Given the description of an element on the screen output the (x, y) to click on. 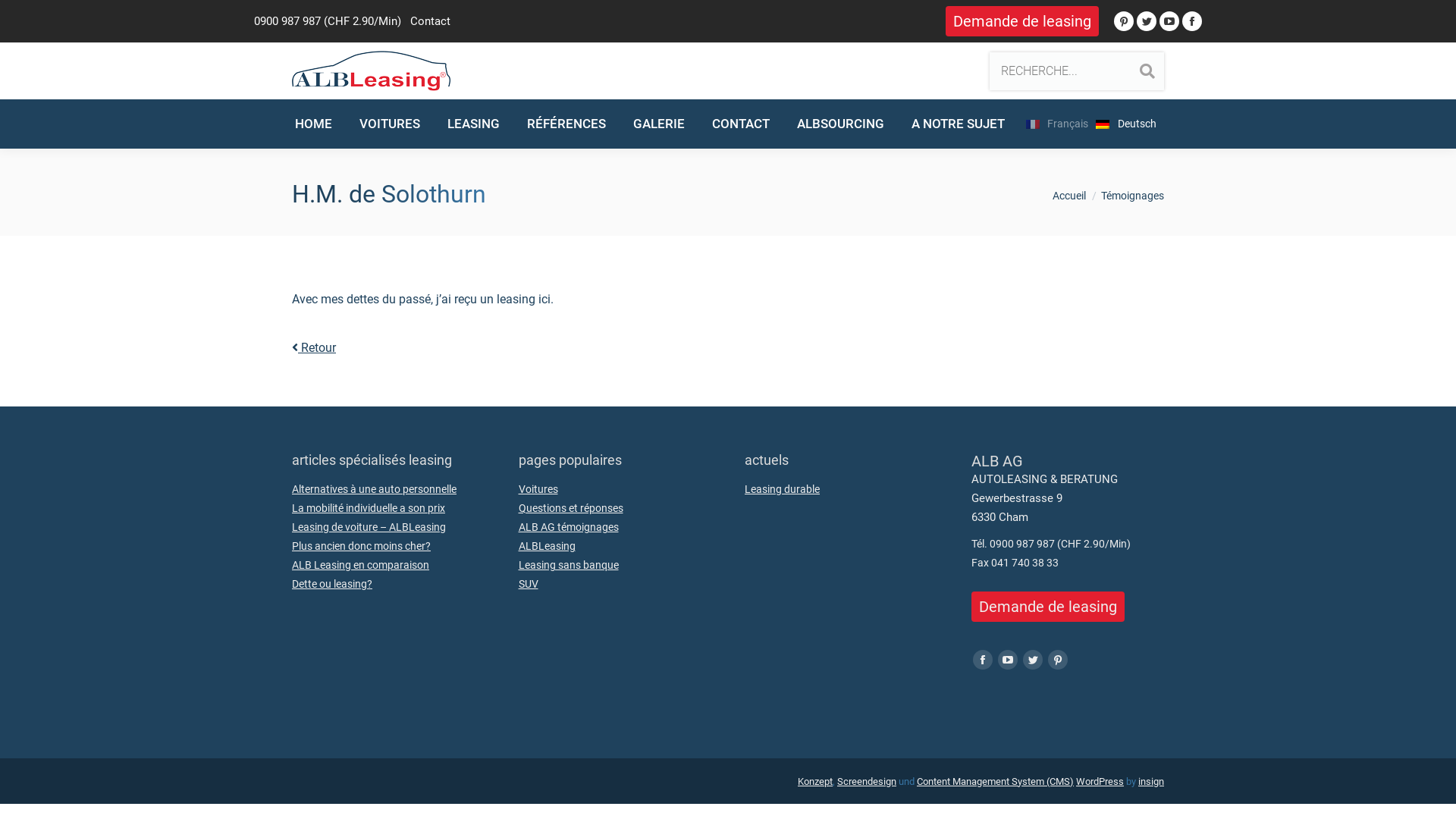
Deutsch Element type: text (1129, 123)
Retour Element type: text (313, 347)
Pinterest page opens in new window Element type: text (1123, 21)
ALB Leasing en comparaison Element type: text (360, 564)
Accueil Element type: text (1068, 195)
Twitter Element type: text (1031, 659)
Contact Element type: text (430, 21)
LEASING Element type: text (473, 123)
A NOTRE SUJET Element type: text (957, 123)
VOITURES Element type: text (389, 123)
WordPress Element type: text (1099, 780)
Screendesign Element type: text (866, 780)
Pinterest Element type: text (1057, 659)
CONTACT Element type: text (740, 123)
Leasing durable Element type: text (781, 489)
Konzept Element type: text (814, 780)
Content Management System (CMS) Element type: text (994, 780)
Twitter page opens in new window Element type: text (1146, 21)
Facebook Element type: text (981, 659)
Dette ou leasing? Element type: text (331, 583)
Search form Element type: hover (1076, 70)
YouTube Element type: text (1007, 659)
insign Element type: text (1151, 780)
ALBLeasing Element type: text (546, 545)
GALERIE Element type: text (658, 123)
YouTube page opens in new window Element type: text (1169, 21)
HOME Element type: text (313, 123)
ALBSOURCING Element type: text (840, 123)
Voitures Element type: text (538, 489)
Go! Element type: text (23, 19)
Demande de leasing Element type: text (1021, 21)
Leasing sans banque Element type: text (568, 564)
Plus ancien donc moins cher? Element type: text (360, 545)
Demande de leasing Element type: text (1046, 606)
SUV Element type: text (528, 583)
Facebook page opens in new window Element type: text (1191, 21)
